Given the description of an element on the screen output the (x, y) to click on. 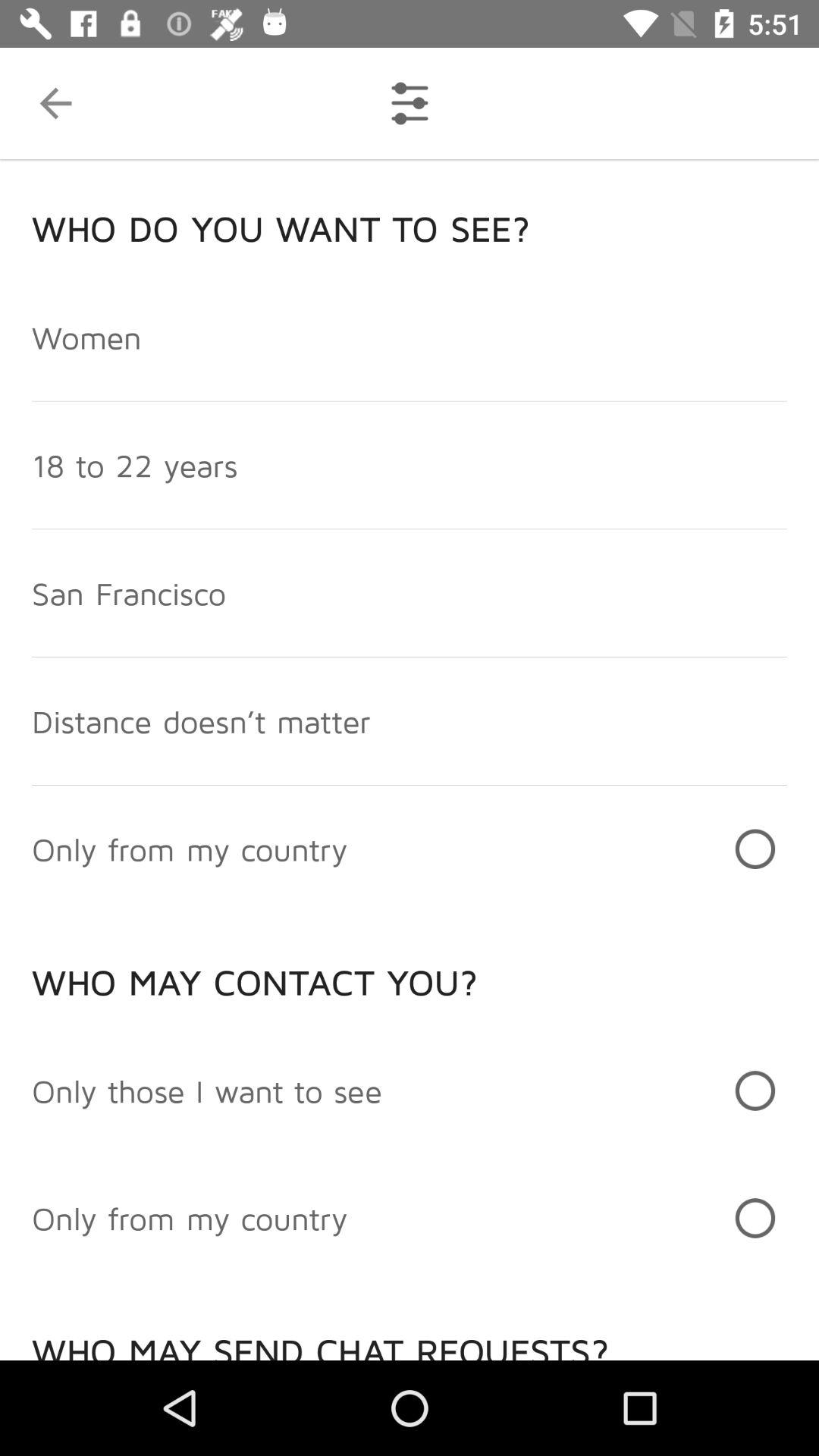
scroll until only those i (206, 1090)
